Given the description of an element on the screen output the (x, y) to click on. 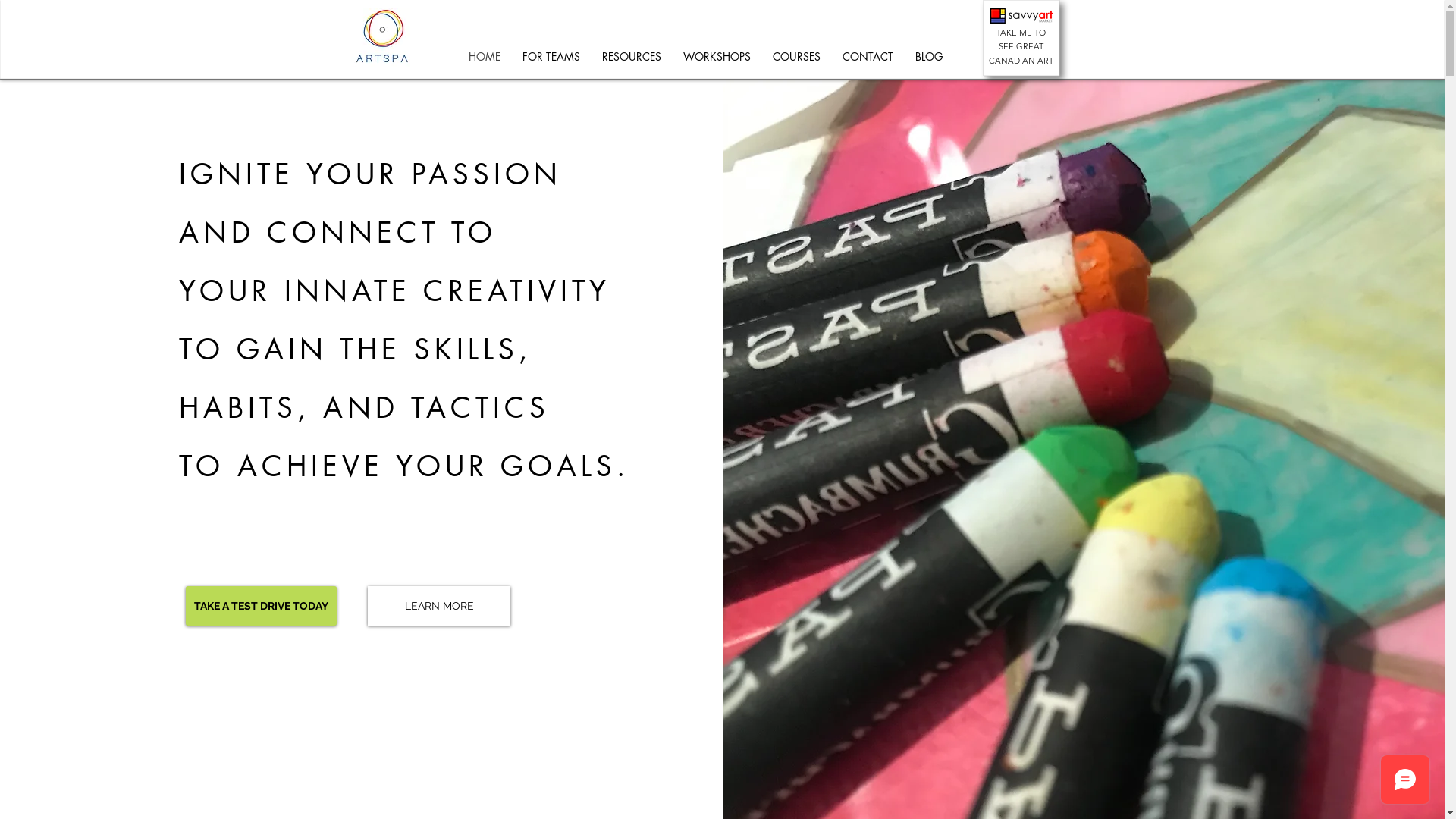
LEARN MORE Element type: text (438, 605)
HOME Element type: text (484, 56)
SEE GREAT Element type: text (1020, 45)
TAKE A TEST DRIVE TODAY Element type: text (260, 605)
RESOURCES Element type: text (631, 56)
WORKSHOPS Element type: text (716, 56)
CANADIAN ART Element type: text (1020, 60)
TAKE ME TO Element type: text (1020, 32)
BLOG Element type: text (928, 56)
CONTACT Element type: text (867, 56)
71757b_dc5ceffa51ca4ead993242e37f97a753~mv2.png Element type: hover (1021, 15)
FOR TEAMS Element type: text (550, 56)
COURSES Element type: text (796, 56)
